Given the description of an element on the screen output the (x, y) to click on. 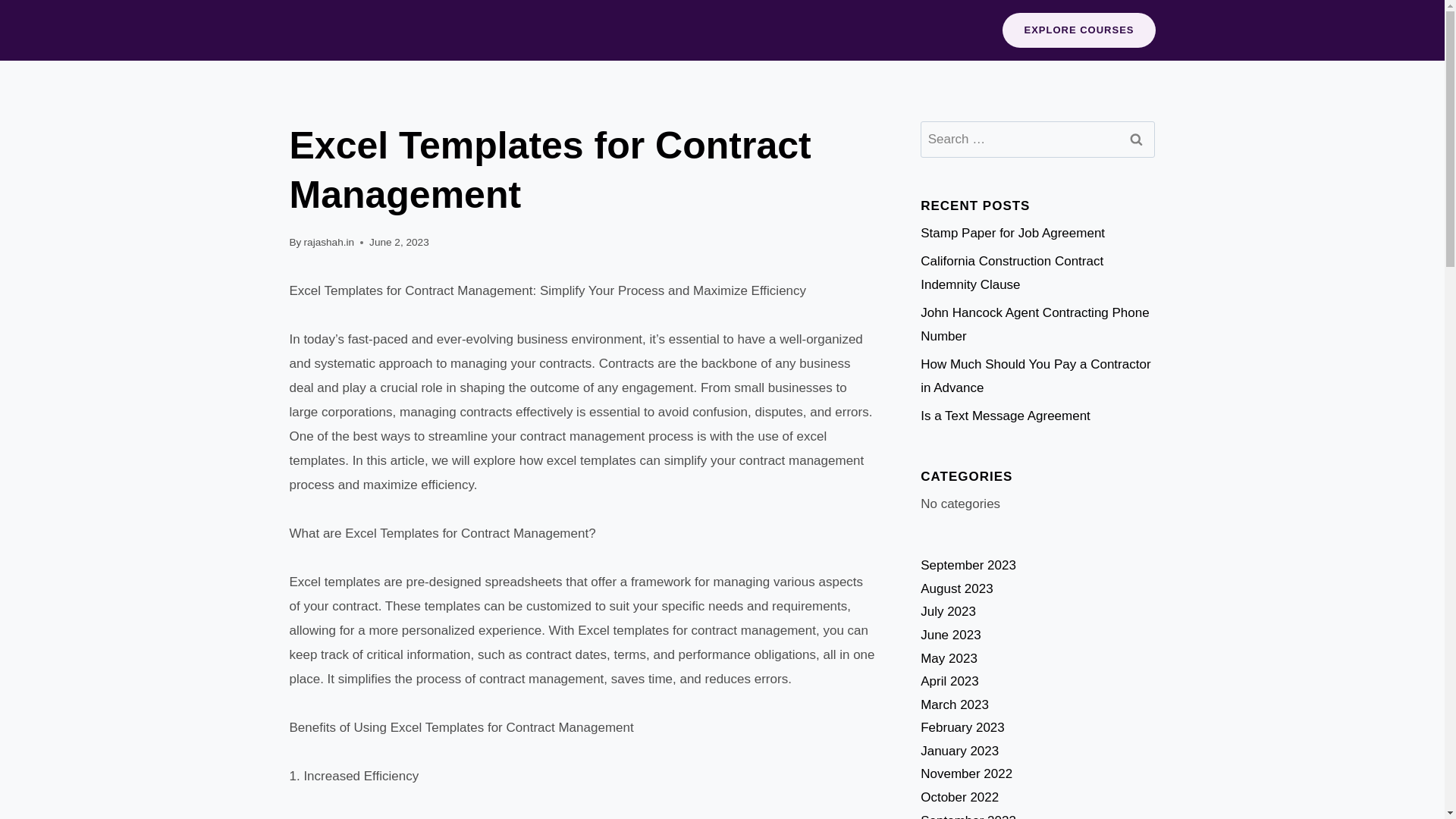
Search (1135, 139)
Search (1135, 139)
John Hancock Agent Contracting Phone Number (1034, 324)
rajashah.in (329, 242)
June 2023 (949, 635)
March 2023 (954, 704)
July 2023 (947, 611)
January 2023 (959, 750)
May 2023 (948, 657)
September 2022 (968, 816)
California Construction Contract Indemnity Clause (1011, 272)
September 2023 (968, 564)
Stamp Paper for Job Agreement (1012, 233)
How Much Should You Pay a Contractor in Advance (1035, 375)
Search (1135, 139)
